Given the description of an element on the screen output the (x, y) to click on. 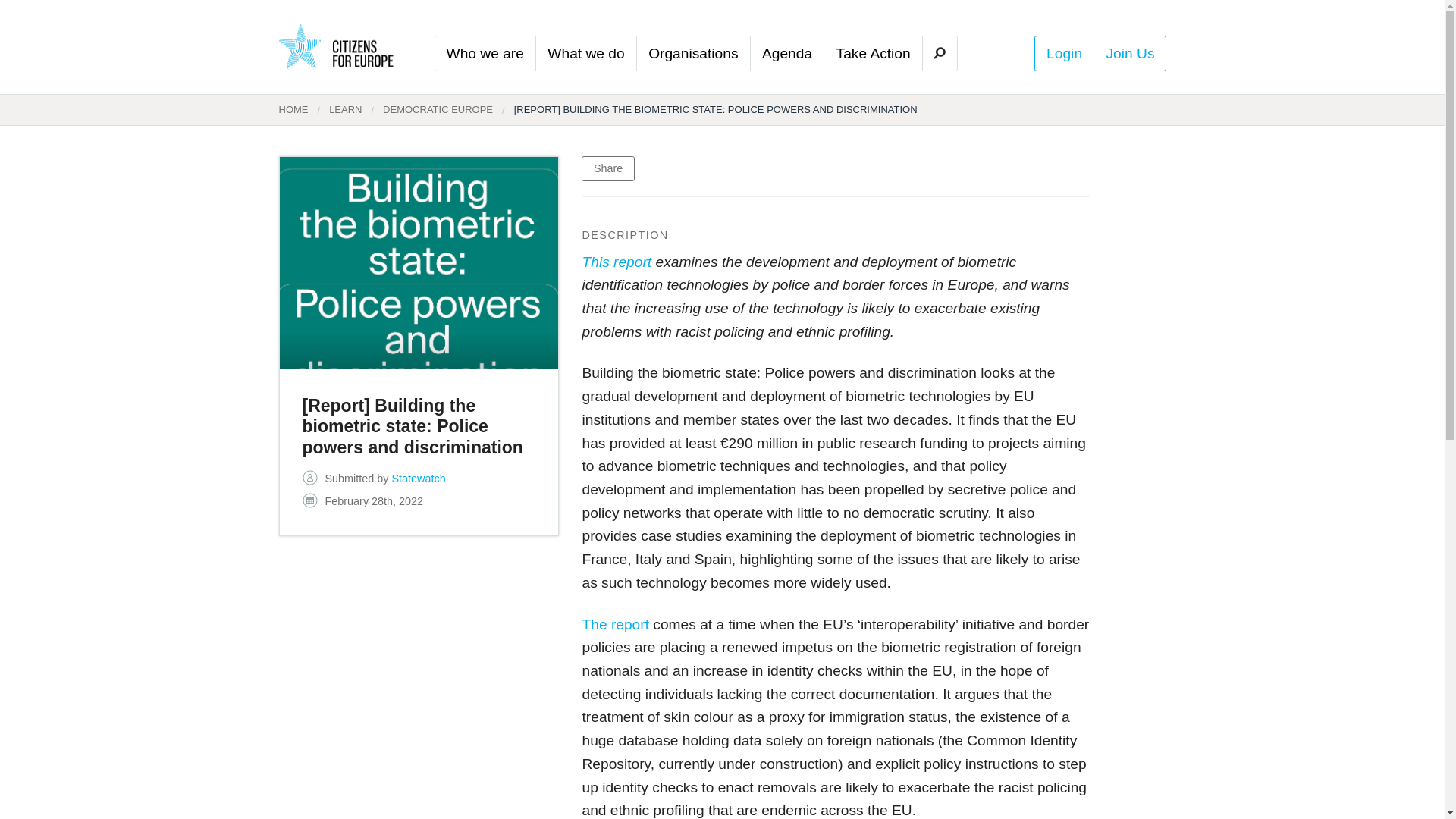
The report (614, 624)
DEMOCRATIC EUROPE (427, 110)
This report (615, 261)
LEARN (334, 110)
Who we are (485, 53)
Join Us (1130, 53)
Take Action (874, 53)
Statewatch (418, 478)
Login (1064, 53)
Organisations (693, 53)
Agenda (787, 53)
What we do (585, 53)
HOME (293, 110)
